Given the description of an element on the screen output the (x, y) to click on. 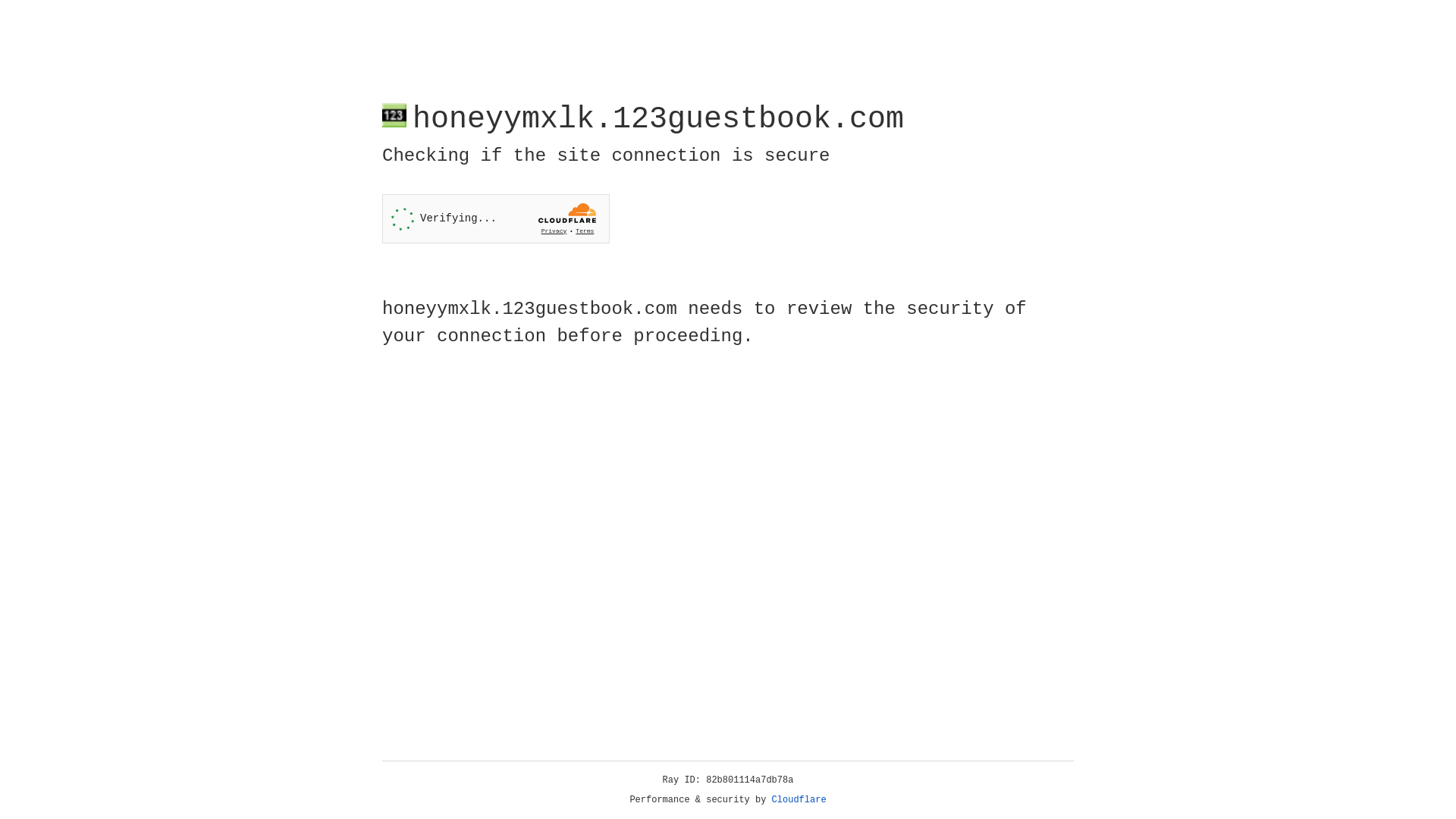
Cloudflare Element type: text (798, 799)
Widget containing a Cloudflare security challenge Element type: hover (495, 218)
